Given the description of an element on the screen output the (x, y) to click on. 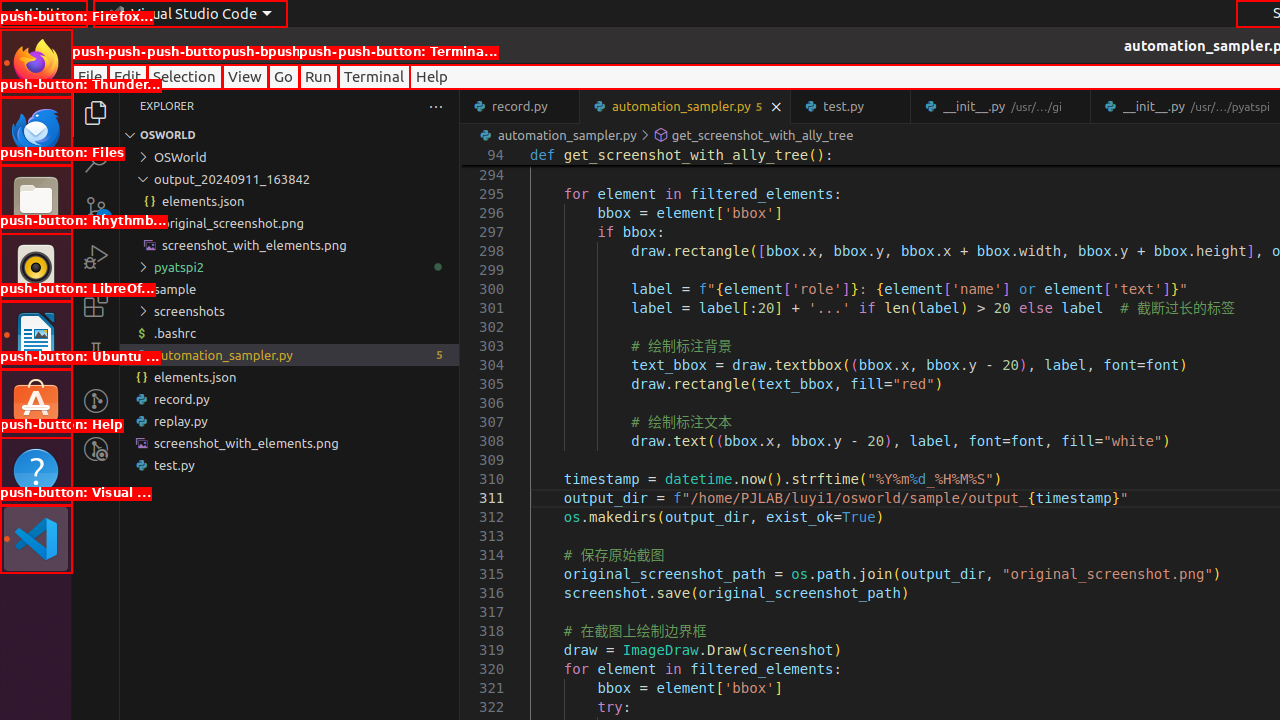
Edit Element type: push-button (127, 76)
Selection Element type: push-button (184, 76)
File Element type: push-button (90, 76)
